Given the description of an element on the screen output the (x, y) to click on. 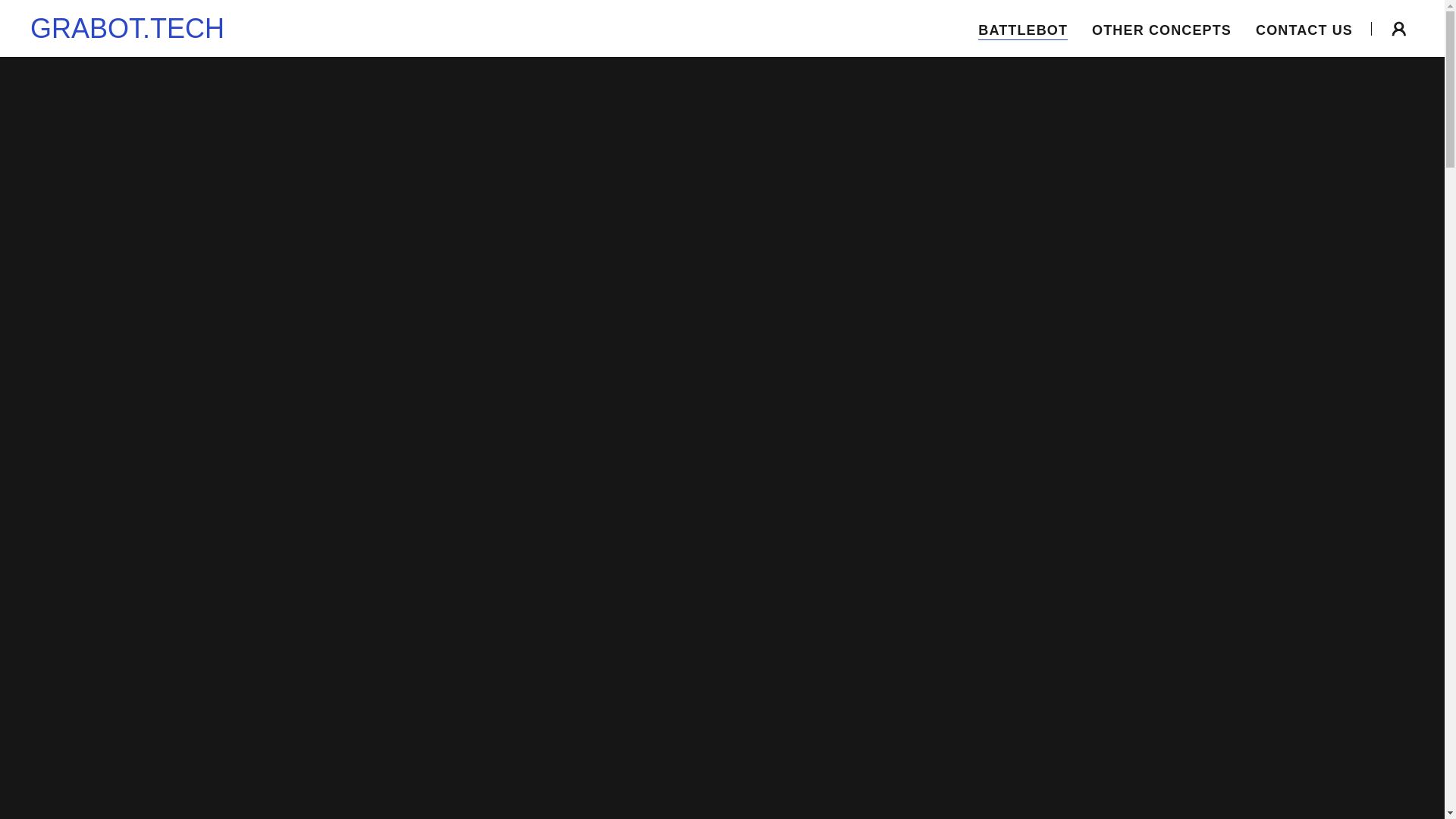
CONTACT US (1303, 30)
BATTLEBOT (1022, 30)
OTHER CONCEPTS (1161, 30)
GRABOT.TECH (127, 32)
GRABOT.TECH (127, 32)
